Given the description of an element on the screen output the (x, y) to click on. 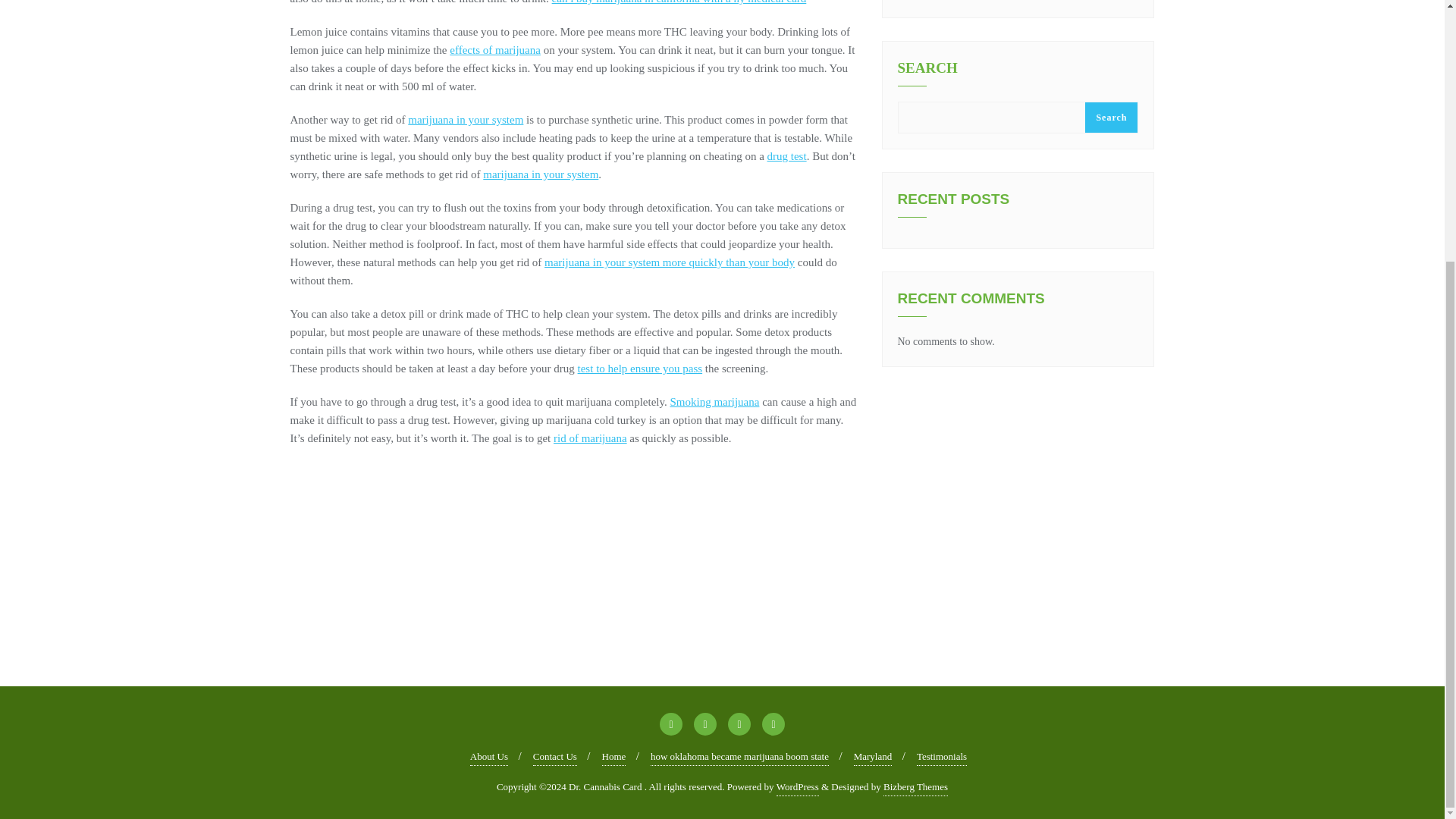
can i buy marijuana in california with a ny medical card (678, 2)
marijuana in your system (540, 174)
test to help ensure you pass (640, 368)
Bizberg Themes (915, 787)
Contact Us (554, 756)
rid of marijuana (590, 438)
Smoking marijuana (714, 401)
WordPress (797, 787)
Maryland (872, 756)
effects of marijuana (494, 50)
